Given the description of an element on the screen output the (x, y) to click on. 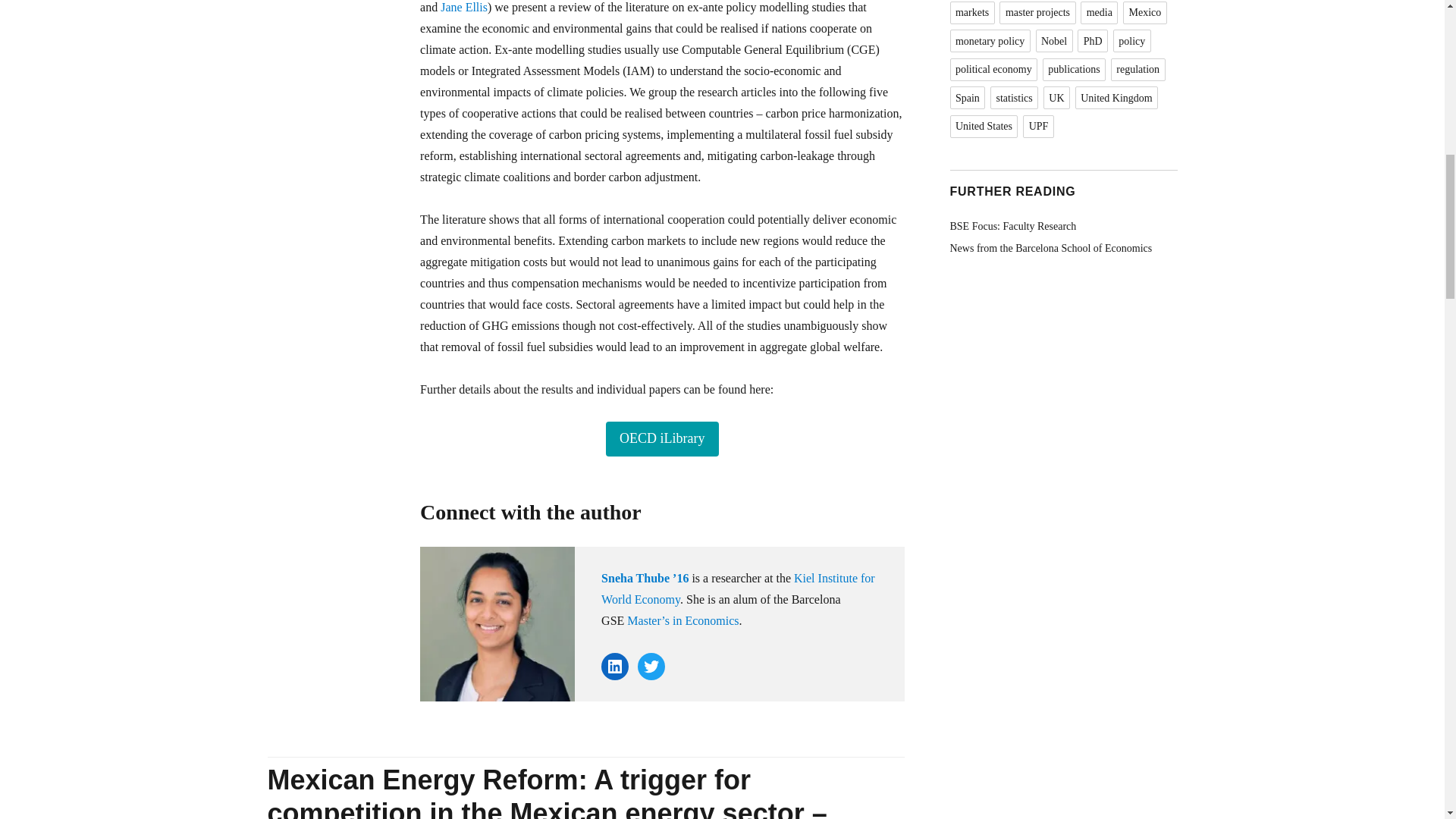
LinkedIn (614, 666)
OECD iLibrary (661, 438)
Kiel Institute for World Economy (738, 588)
Twitter (651, 666)
Jane Ellis (464, 6)
